Given the description of an element on the screen output the (x, y) to click on. 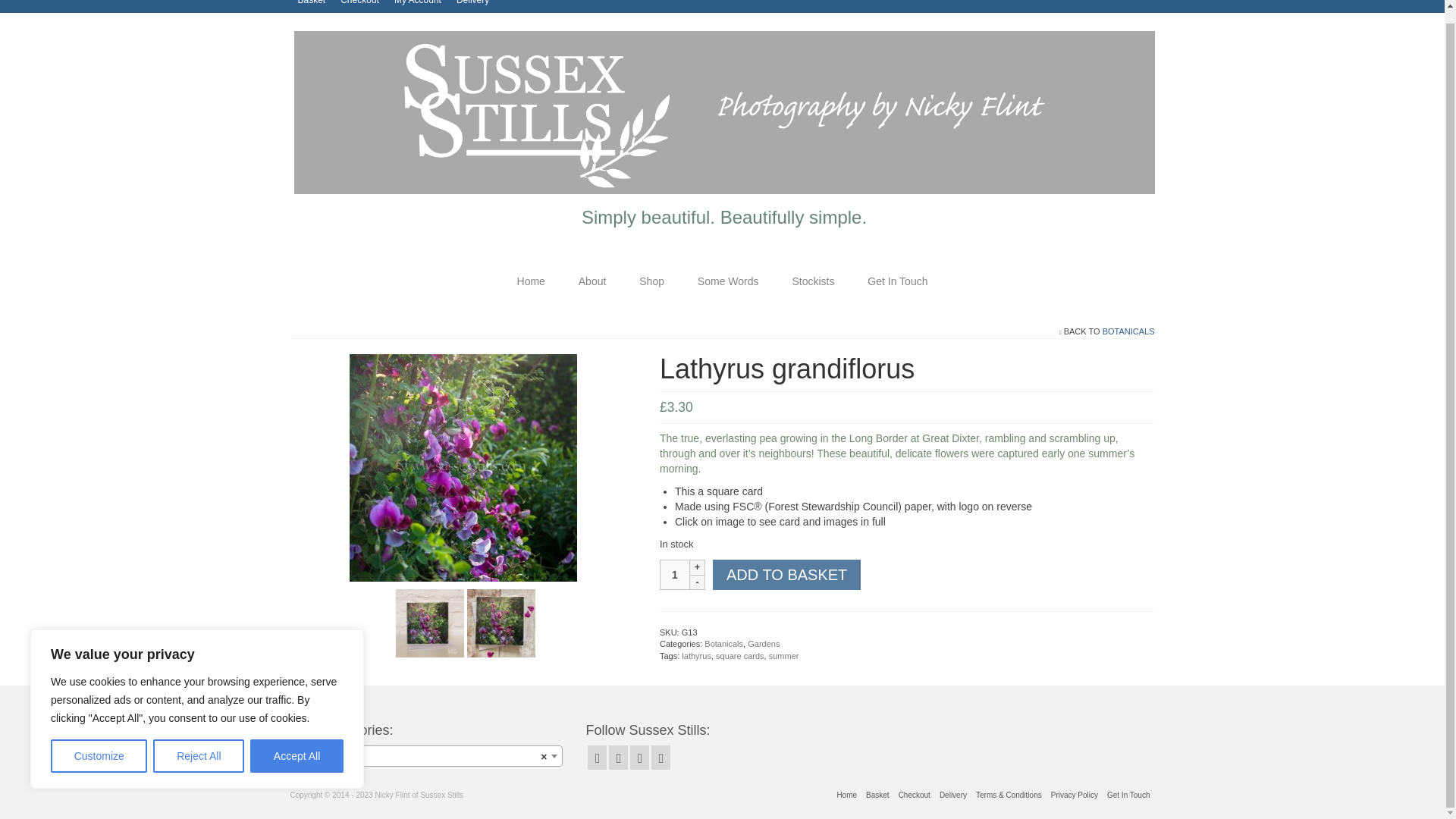
Lathyrus grandiflorus (429, 621)
Stockists (812, 280)
Shop (651, 280)
Accept All (296, 743)
Some Words (728, 280)
Home (531, 280)
Delivery (472, 6)
Reject All (198, 743)
- (697, 581)
Customize (98, 743)
Checkout (360, 6)
1 (674, 574)
Botanicals (426, 756)
About (592, 280)
My Account (417, 6)
